Given the description of an element on the screen output the (x, y) to click on. 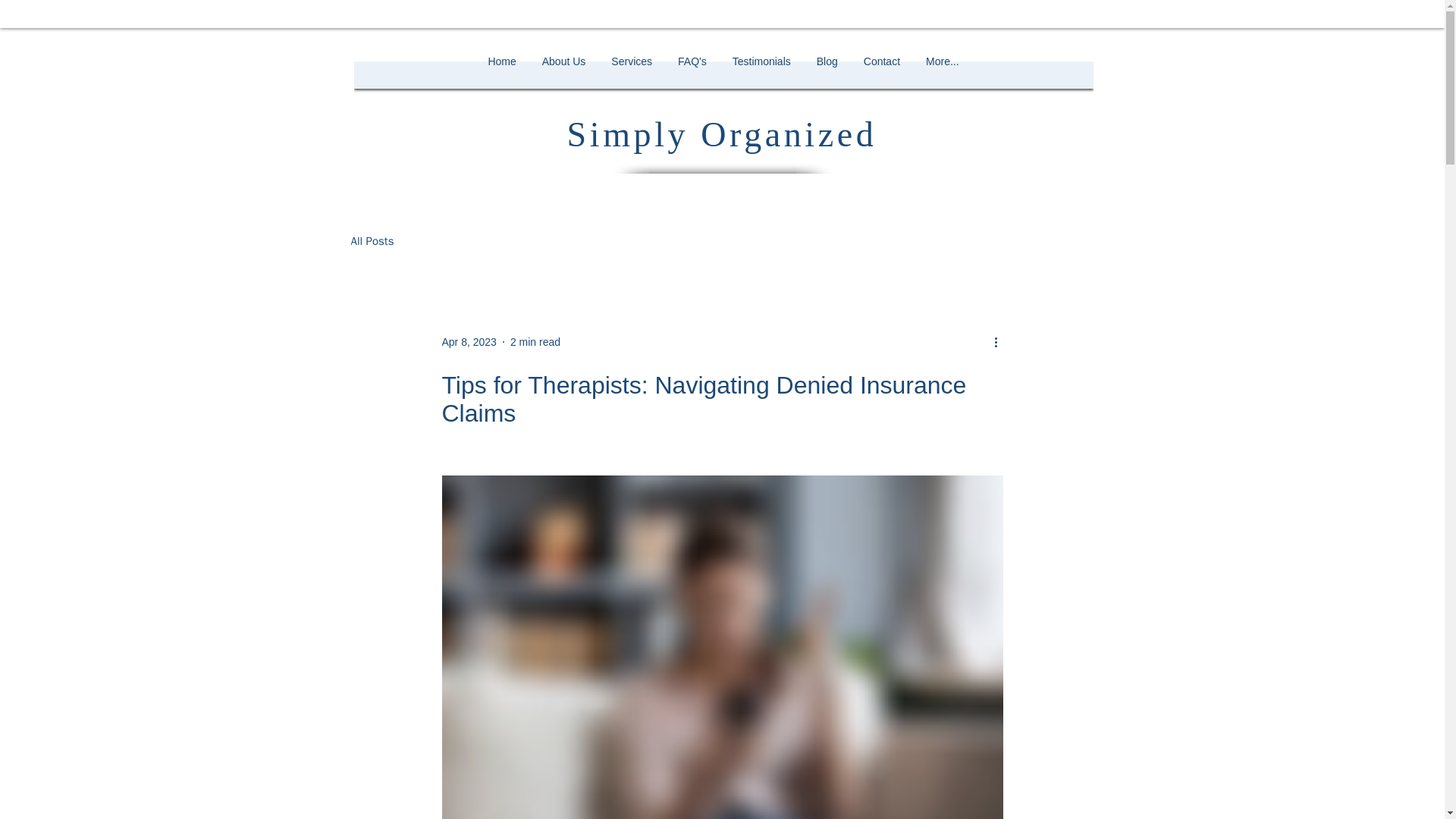
About Us (563, 75)
Apr 8, 2023 (468, 341)
Home (501, 75)
2 min read (535, 341)
FAQ's (692, 75)
All Posts (371, 241)
Testimonials (761, 75)
Contact (881, 75)
Blog (826, 75)
Services (631, 75)
